Given the description of an element on the screen output the (x, y) to click on. 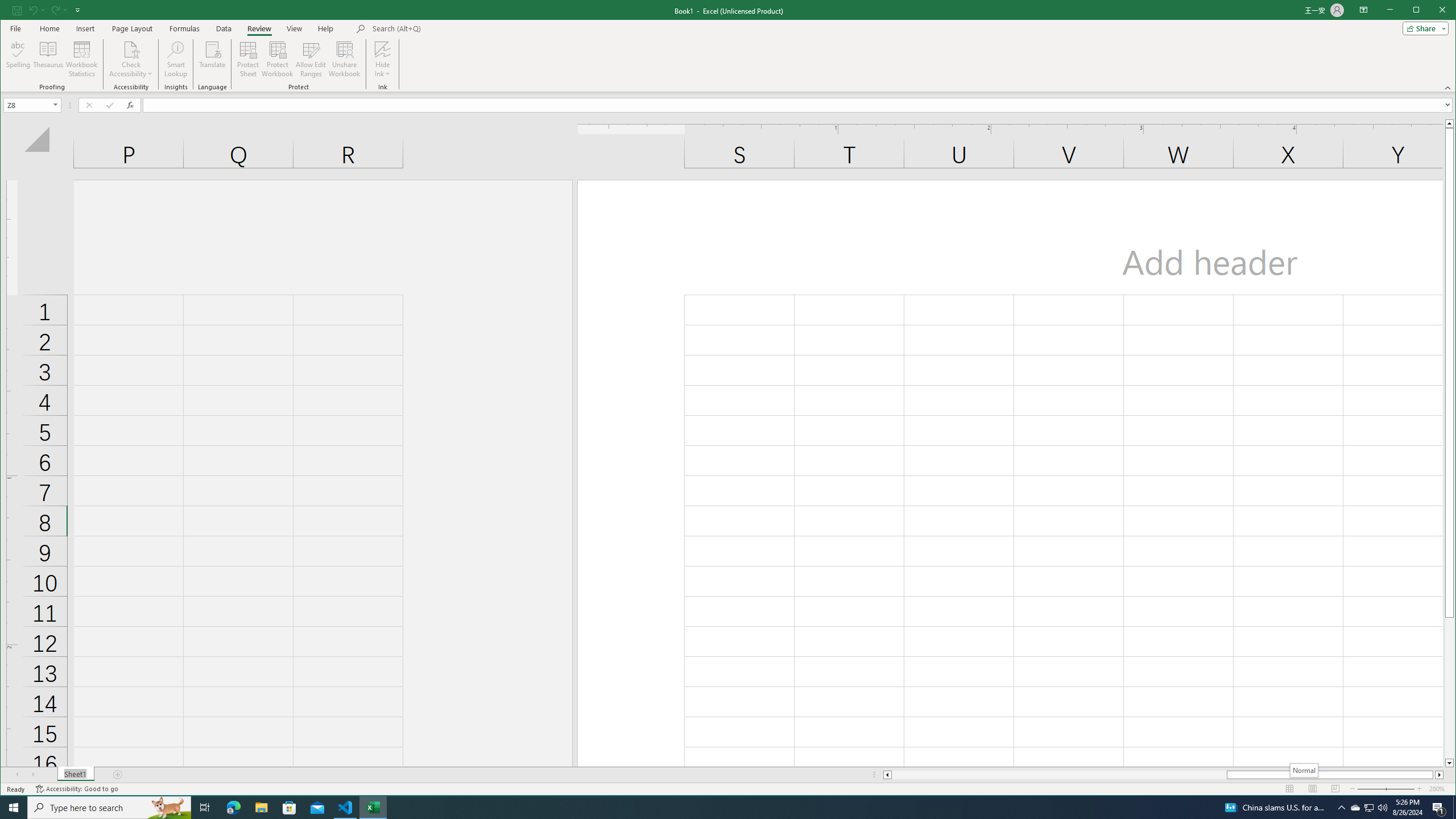
Workbook Statistics (82, 59)
Allow Edit Ranges (310, 59)
Action Center, 1 new notification (1439, 807)
User Promoted Notification Area (1368, 807)
File Explorer (261, 807)
Start (13, 807)
